Given the description of an element on the screen output the (x, y) to click on. 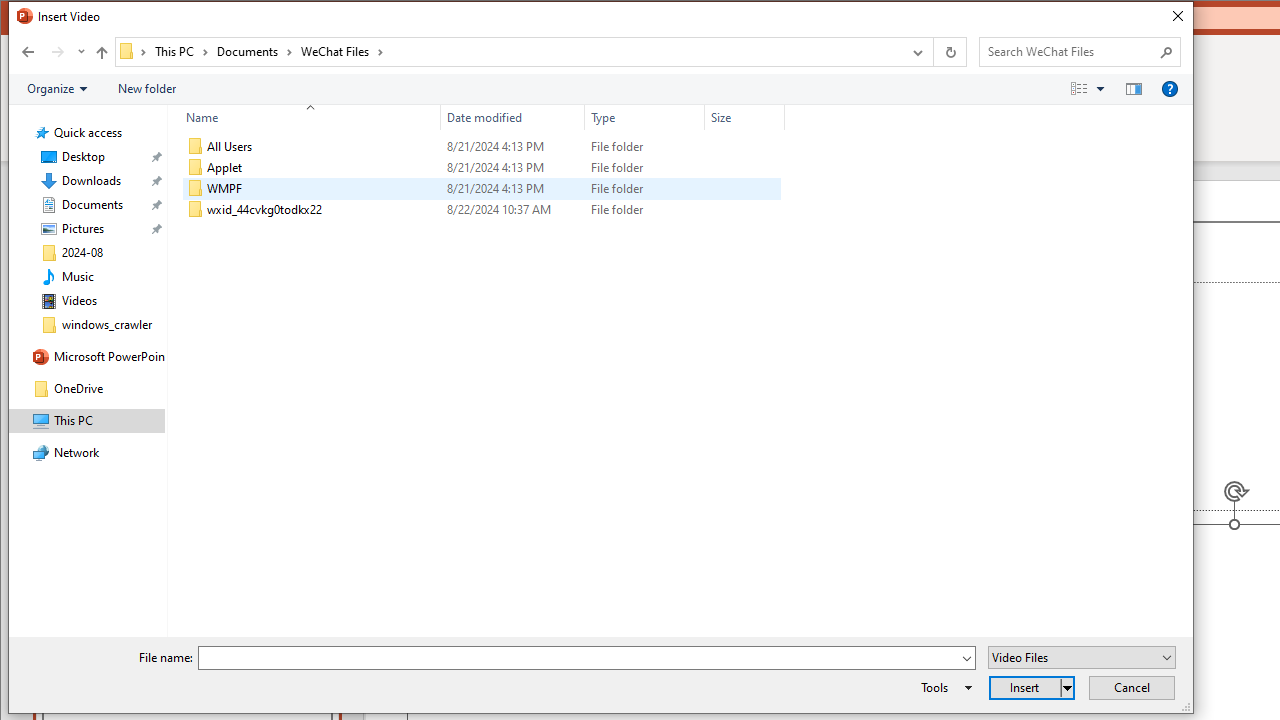
Type (644, 117)
New folder (146, 89)
Organize (56, 89)
Type (644, 209)
Address band toolbar (932, 51)
Tools (943, 687)
All locations (133, 51)
Date modified (512, 117)
Forward (Alt + Right Arrow) (57, 51)
All Users (481, 146)
View Slider (1100, 89)
